Given the description of an element on the screen output the (x, y) to click on. 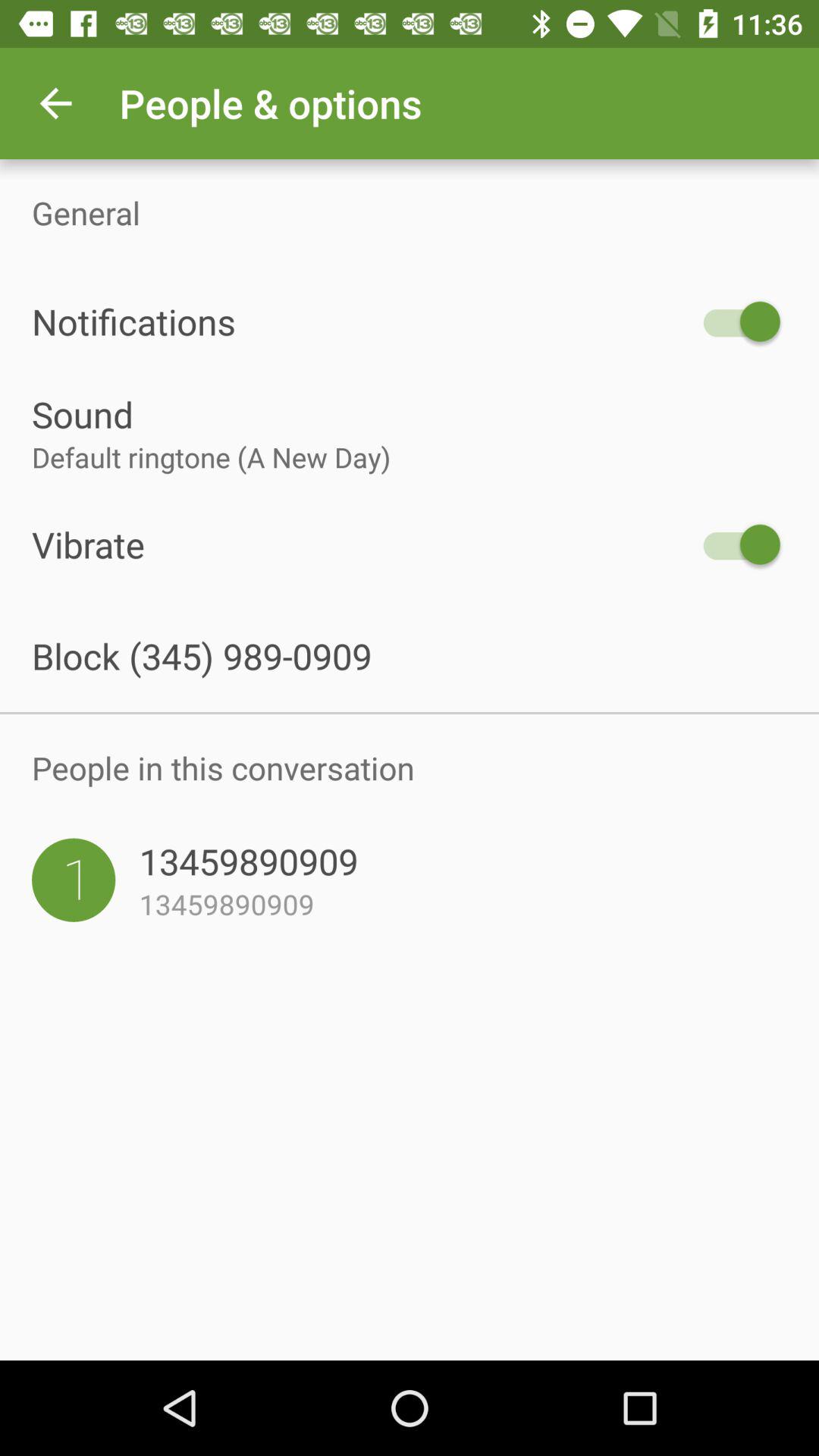
tap item below the sound item (409, 457)
